Given the description of an element on the screen output the (x, y) to click on. 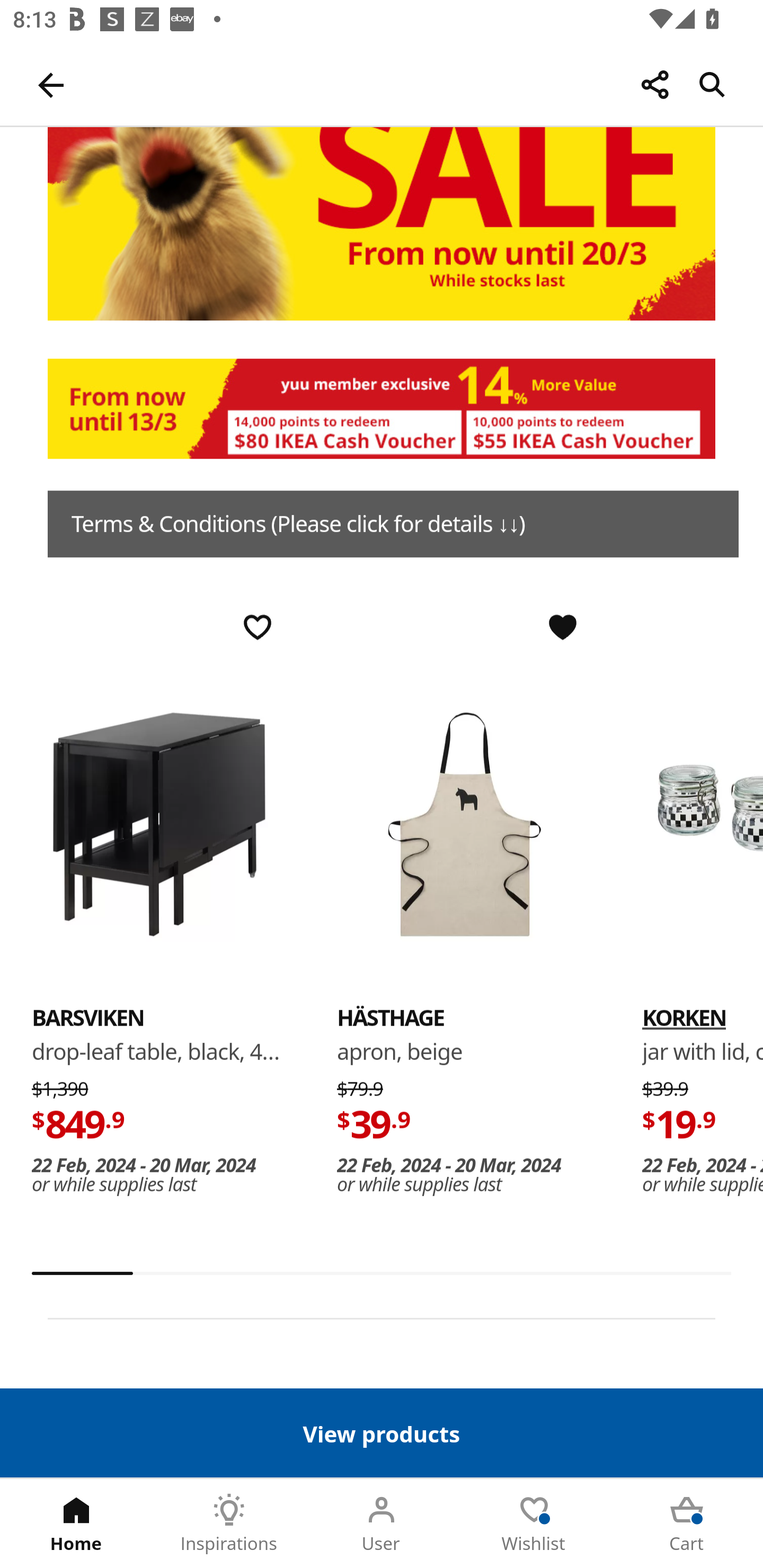
Terms & Conditions (Please click for details ↓↓) (393, 524)
BARSVIKEN (159, 823)
HÄSTHAGE (464, 823)
KORKEN (702, 823)
BARSVIKEN (88, 1017)
HÄSTHAGE (390, 1017)
KORKEN (684, 1017)
View products (381, 1432)
Home
Tab 1 of 5 (76, 1522)
Inspirations
Tab 2 of 5 (228, 1522)
User
Tab 3 of 5 (381, 1522)
Wishlist
Tab 4 of 5 (533, 1522)
Cart
Tab 5 of 5 (686, 1522)
